Given the description of an element on the screen output the (x, y) to click on. 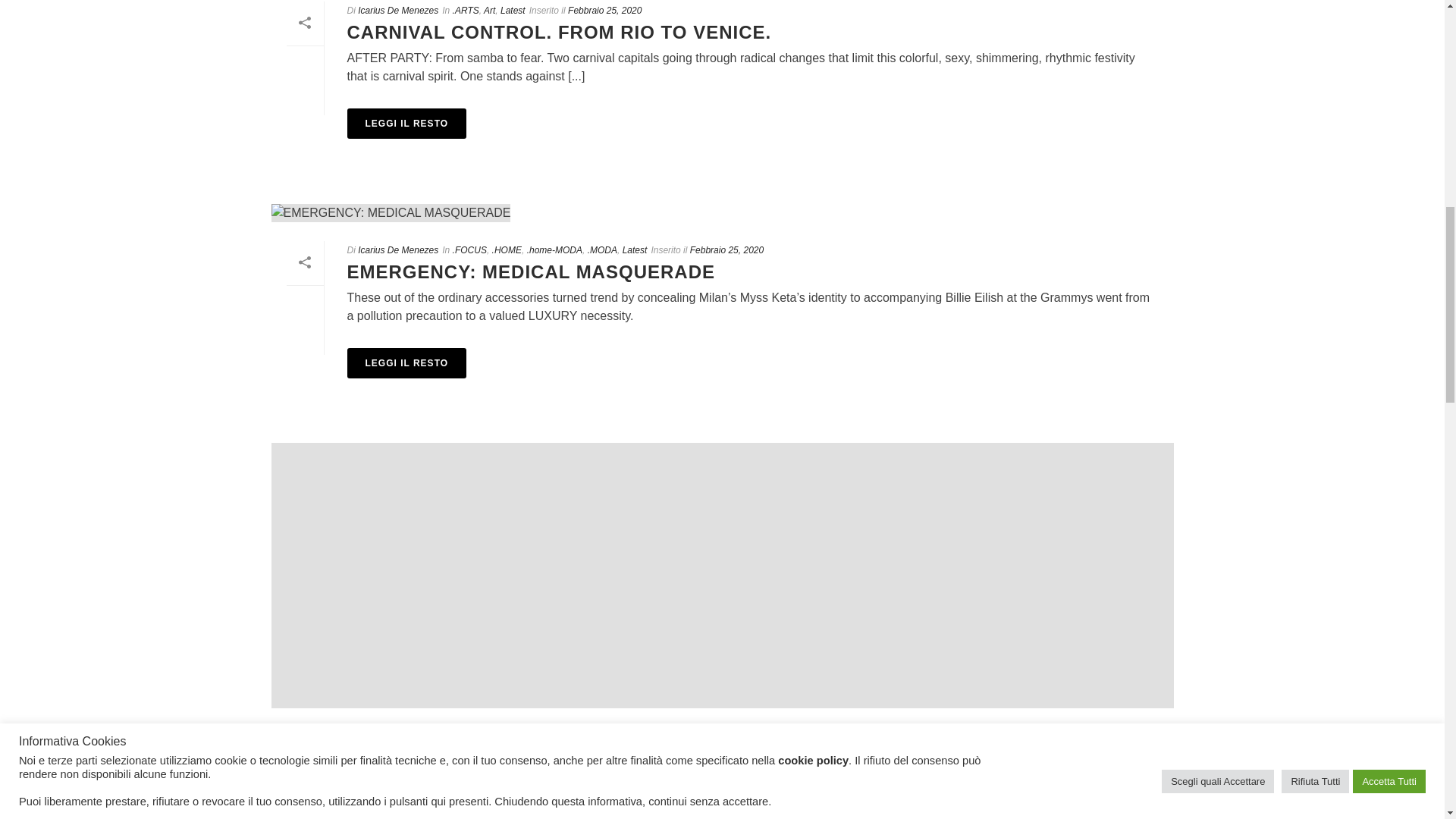
EMERGENCY: MEDICAL MASQUERADE (530, 271)
LEGGI IL RESTO (407, 363)
Icarius De Menezes (398, 9)
.HOME (506, 249)
EMERGENCY: MEDICAL MASQUERADE (721, 212)
Febbraio 25, 2020 (726, 249)
Latest (635, 249)
.HOME (466, 736)
Articoli scritti da Icarius De Menezes (398, 736)
Icarius De Menezes (398, 736)
.home-MODA (554, 249)
Febbraio 25, 2020 (604, 9)
LEGGI IL RESTO (407, 123)
Icarius De Menezes (398, 249)
